Given the description of an element on the screen output the (x, y) to click on. 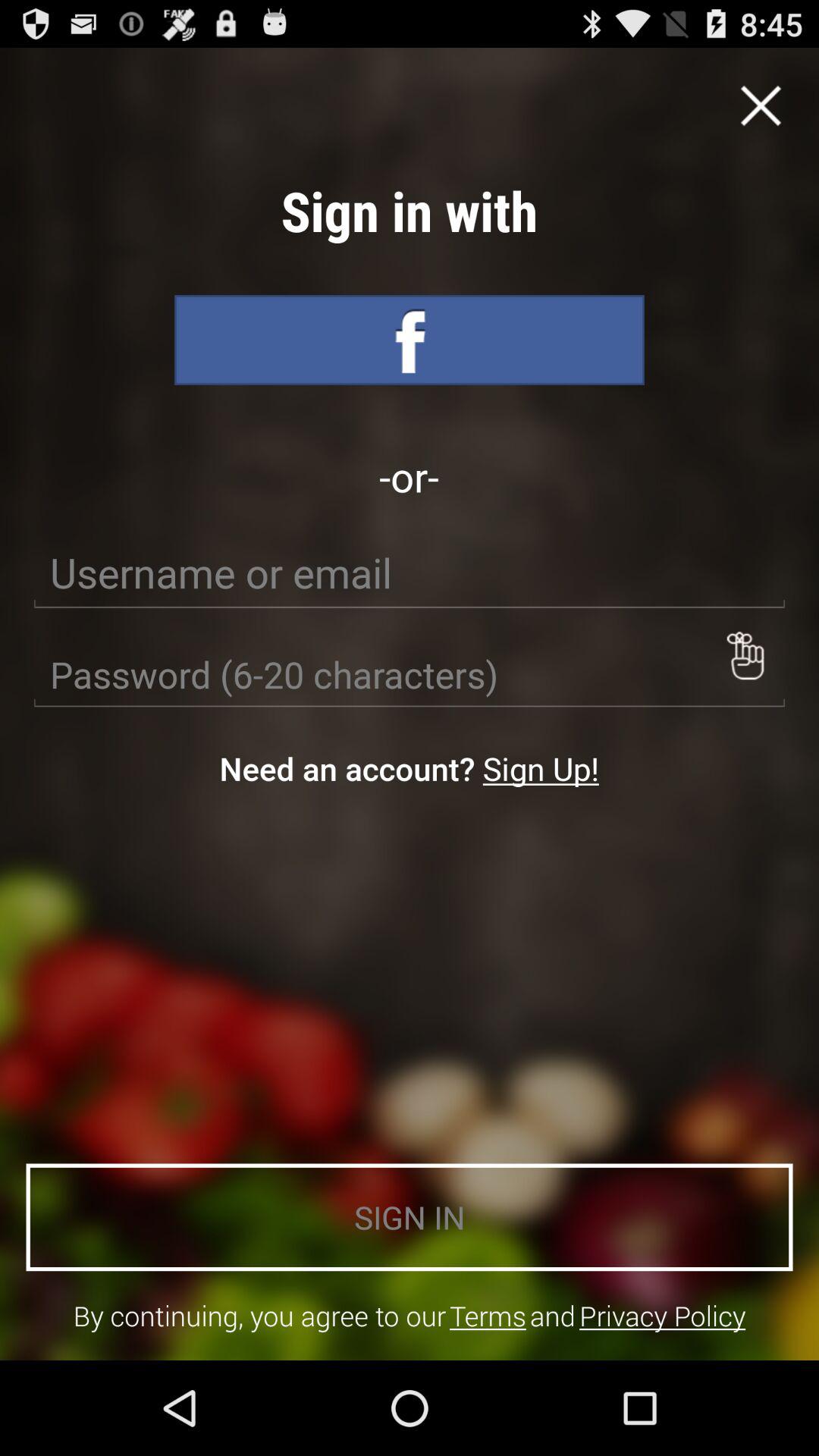
turn on button above sign in icon (744, 655)
